Given the description of an element on the screen output the (x, y) to click on. 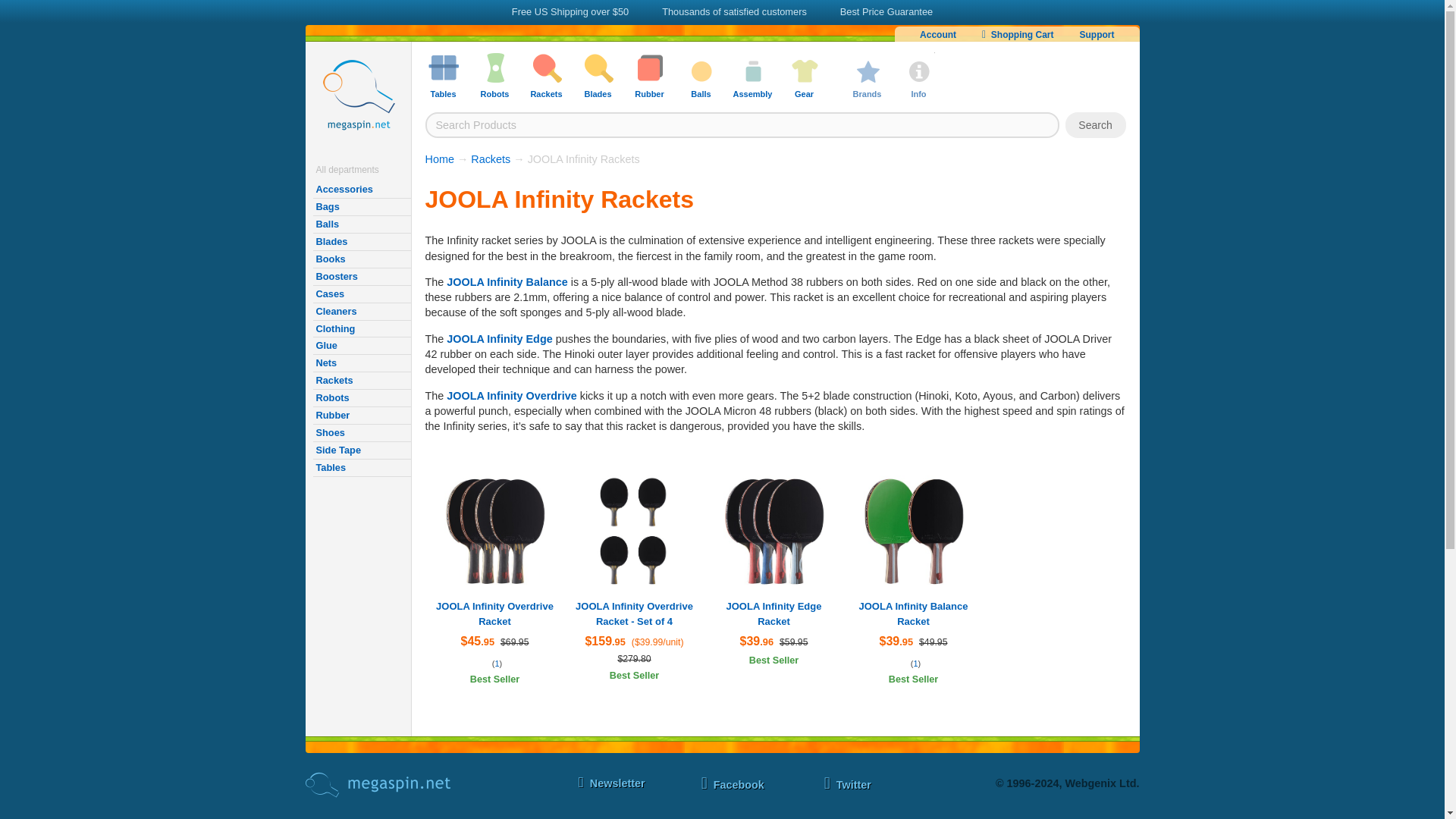
Side Tape (361, 450)
Clothing (361, 329)
Glue (361, 345)
Cases (361, 294)
Bags (361, 207)
Shoes (361, 433)
Tables (361, 467)
Nets (361, 363)
Robots (361, 398)
Boosters (361, 276)
